Given the description of an element on the screen output the (x, y) to click on. 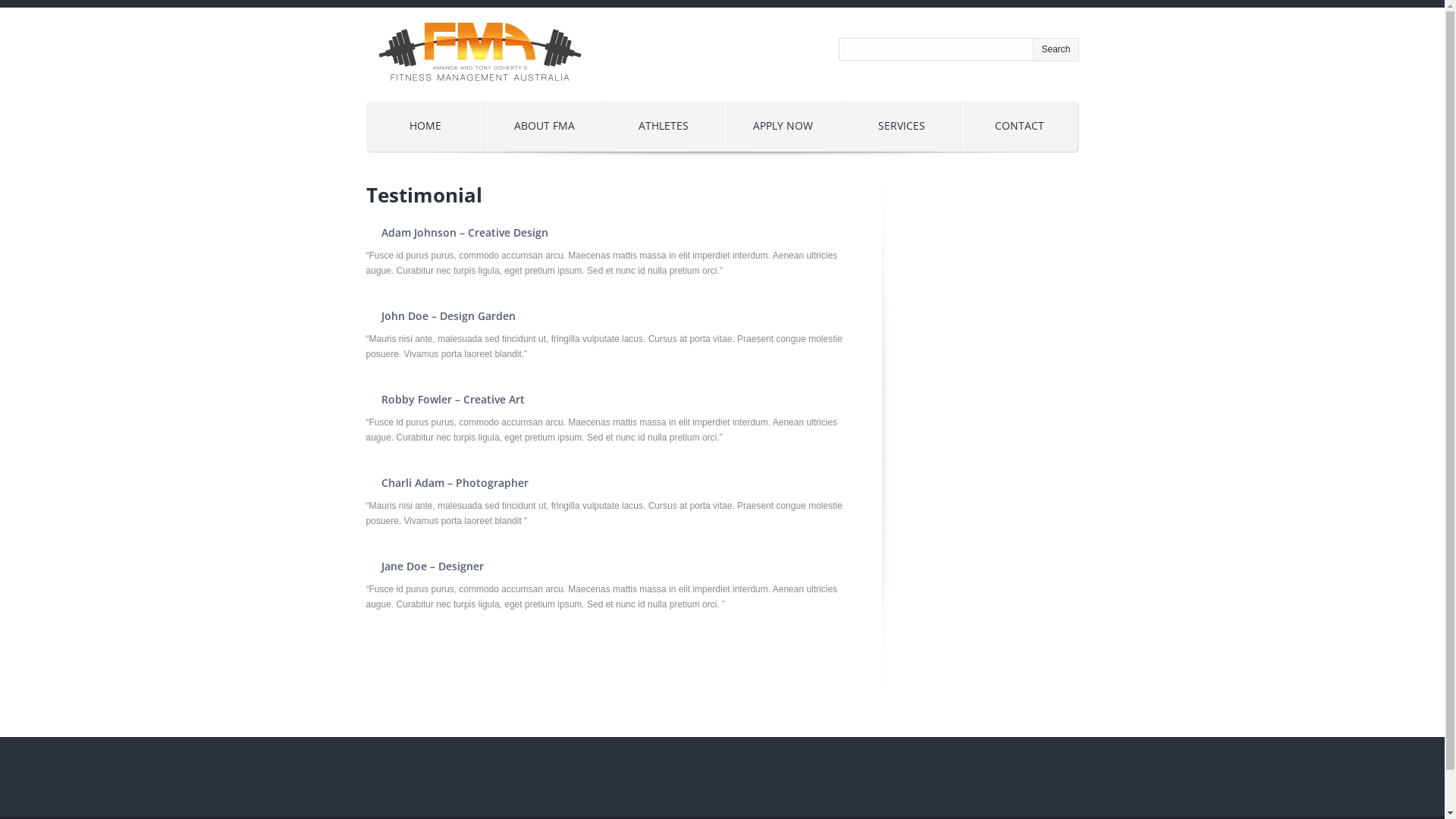
SERVICES Element type: text (901, 125)
APPLY NOW Element type: text (781, 125)
ABOUT FMA Element type: text (543, 125)
Search Element type: text (1055, 49)
CONTACT Element type: text (1018, 125)
Fitness Management Australia Element type: hover (479, 93)
HOME Element type: text (425, 125)
ATHLETES Element type: text (663, 125)
